Given the description of an element on the screen output the (x, y) to click on. 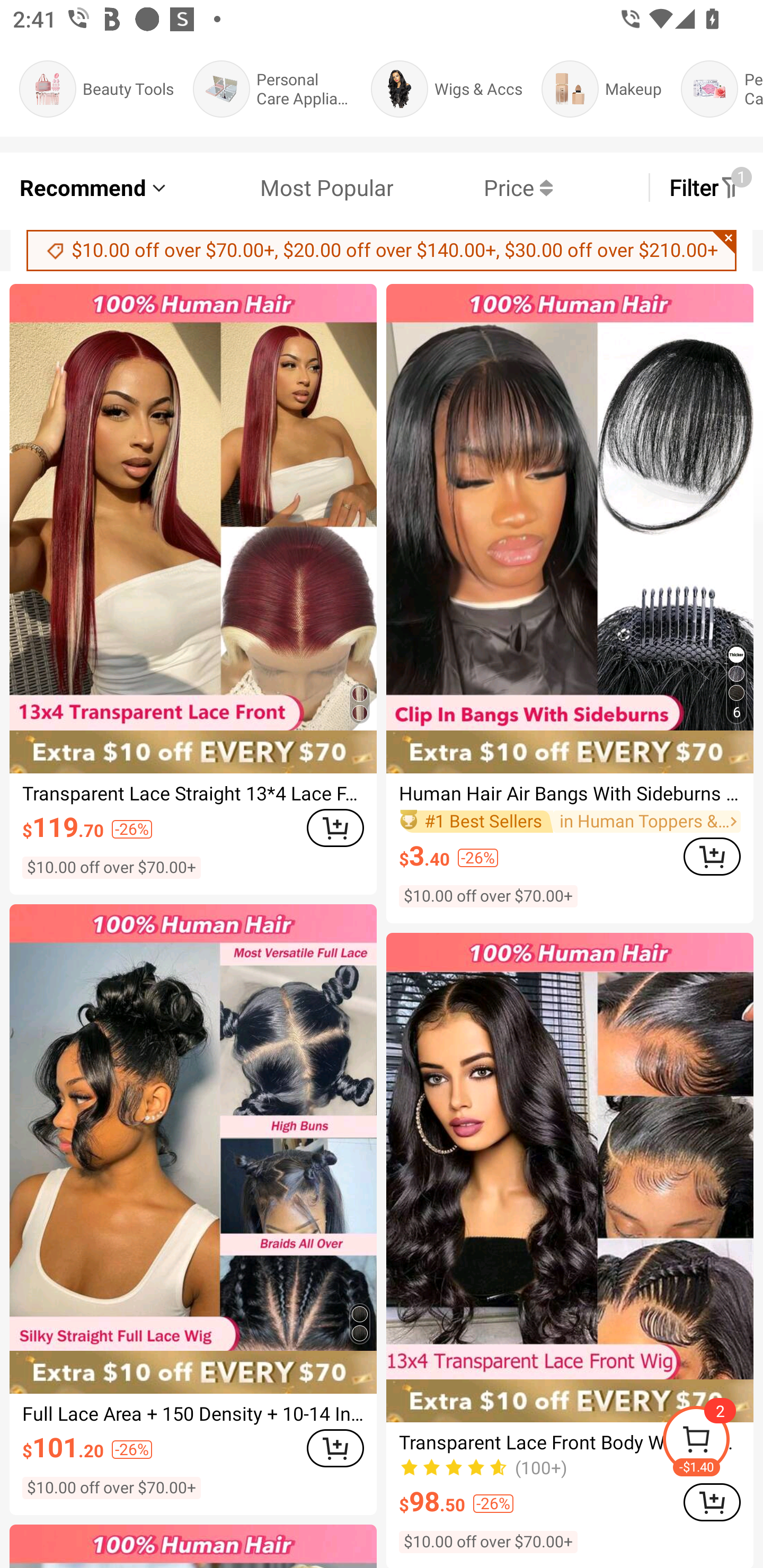
Beauty Tools (96, 89)
Personal Care Appliance (272, 89)
Wigs & Accs (446, 89)
Makeup (601, 89)
Personal Care (721, 89)
Recommend (94, 187)
Most Popular (280, 187)
Price (472, 187)
Filter 1 (705, 187)
ADD TO CART (334, 827)
#1 Best Sellers in Human Toppers & Bangs (569, 821)
ADD TO CART (711, 855)
-$1.40 (712, 1441)
ADD TO CART (334, 1447)
ADD TO CART (711, 1501)
